Given the description of an element on the screen output the (x, y) to click on. 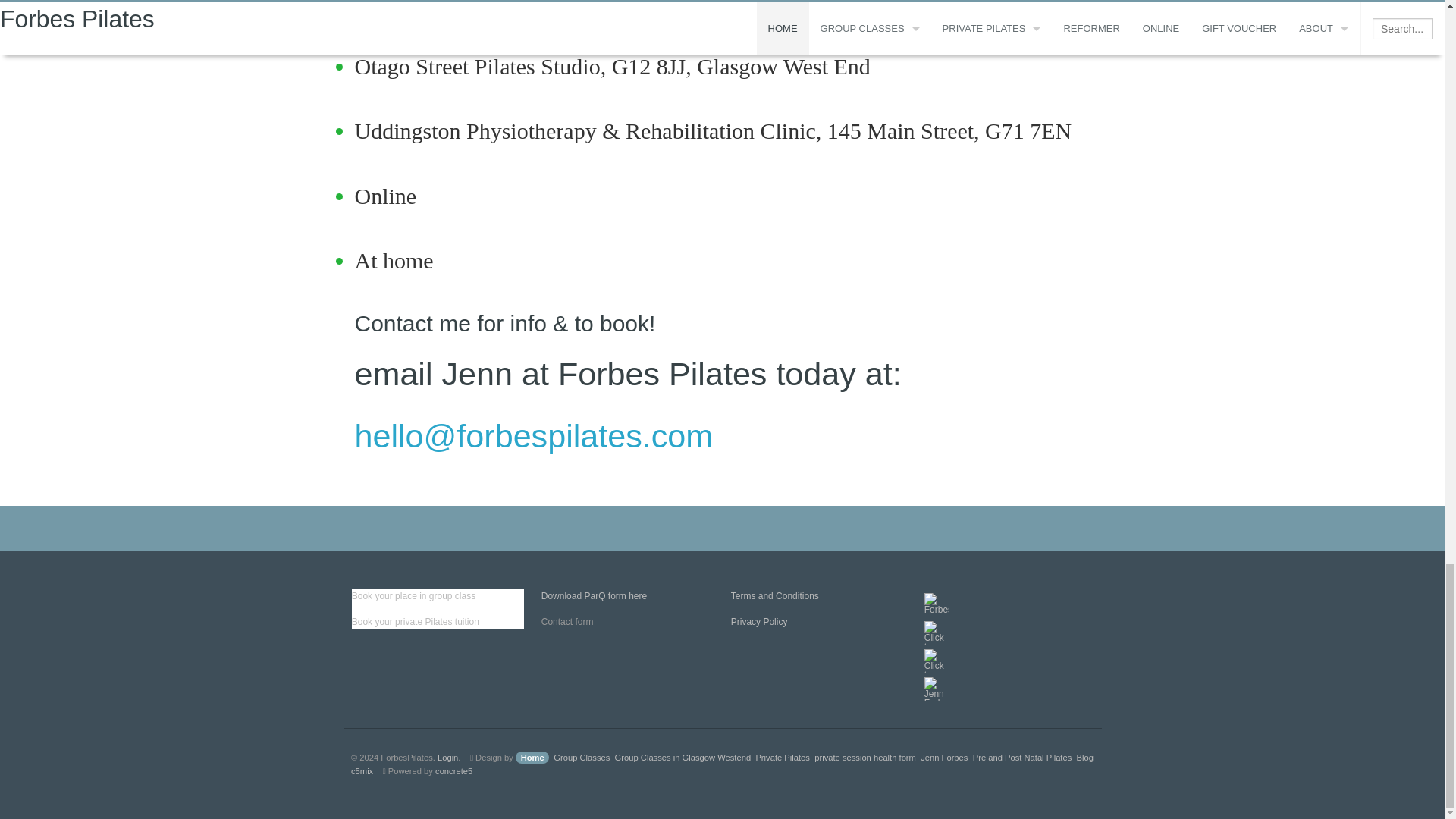
Terms and Conditions (774, 595)
concrete5 themes (361, 770)
Book your place in group class (414, 595)
Online ParQ Form (593, 595)
Book your private Pilates tuition (415, 621)
Terms and Conditions (774, 595)
Download ParQ form here (593, 595)
Details and Book Your Private Pilates (415, 621)
concrete5 CMS (453, 770)
Privacy Policy (758, 621)
